Given the description of an element on the screen output the (x, y) to click on. 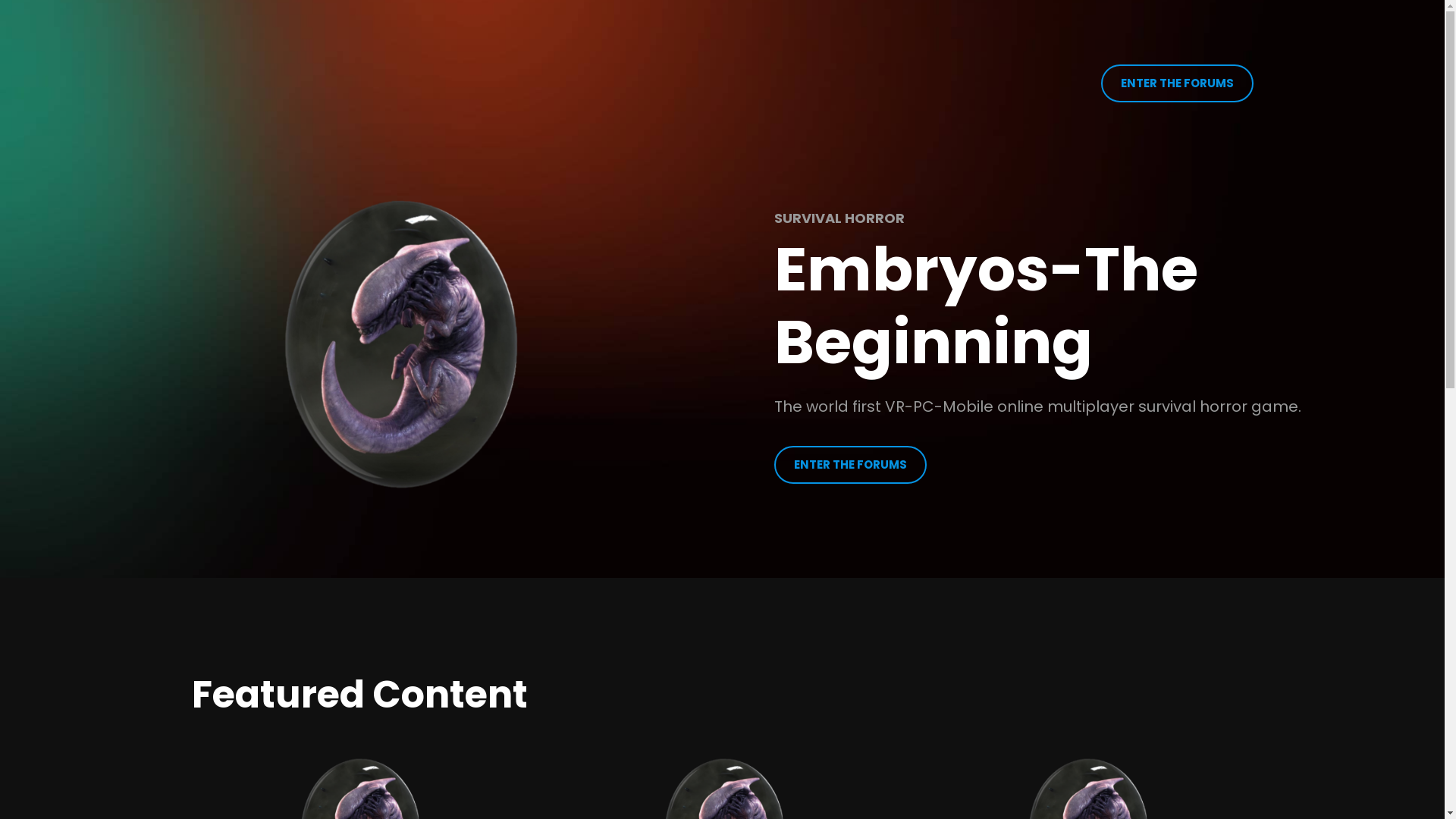
ENTER THE FORUMS Element type: text (850, 464)
ENTER THE FORUMS Element type: text (1177, 83)
